Given the description of an element on the screen output the (x, y) to click on. 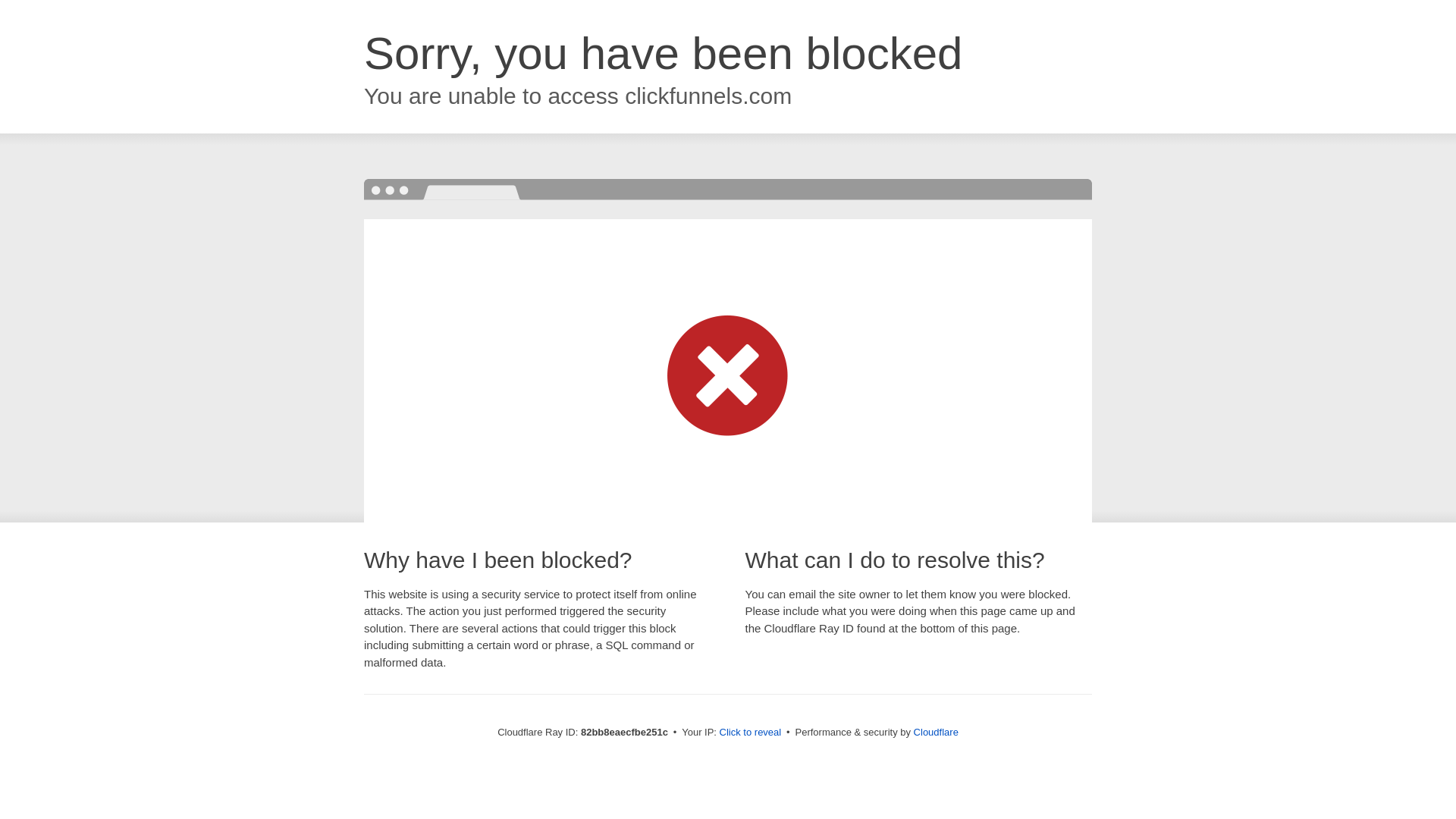
Cloudflare Element type: text (935, 731)
Click to reveal Element type: text (750, 732)
